Given the description of an element on the screen output the (x, y) to click on. 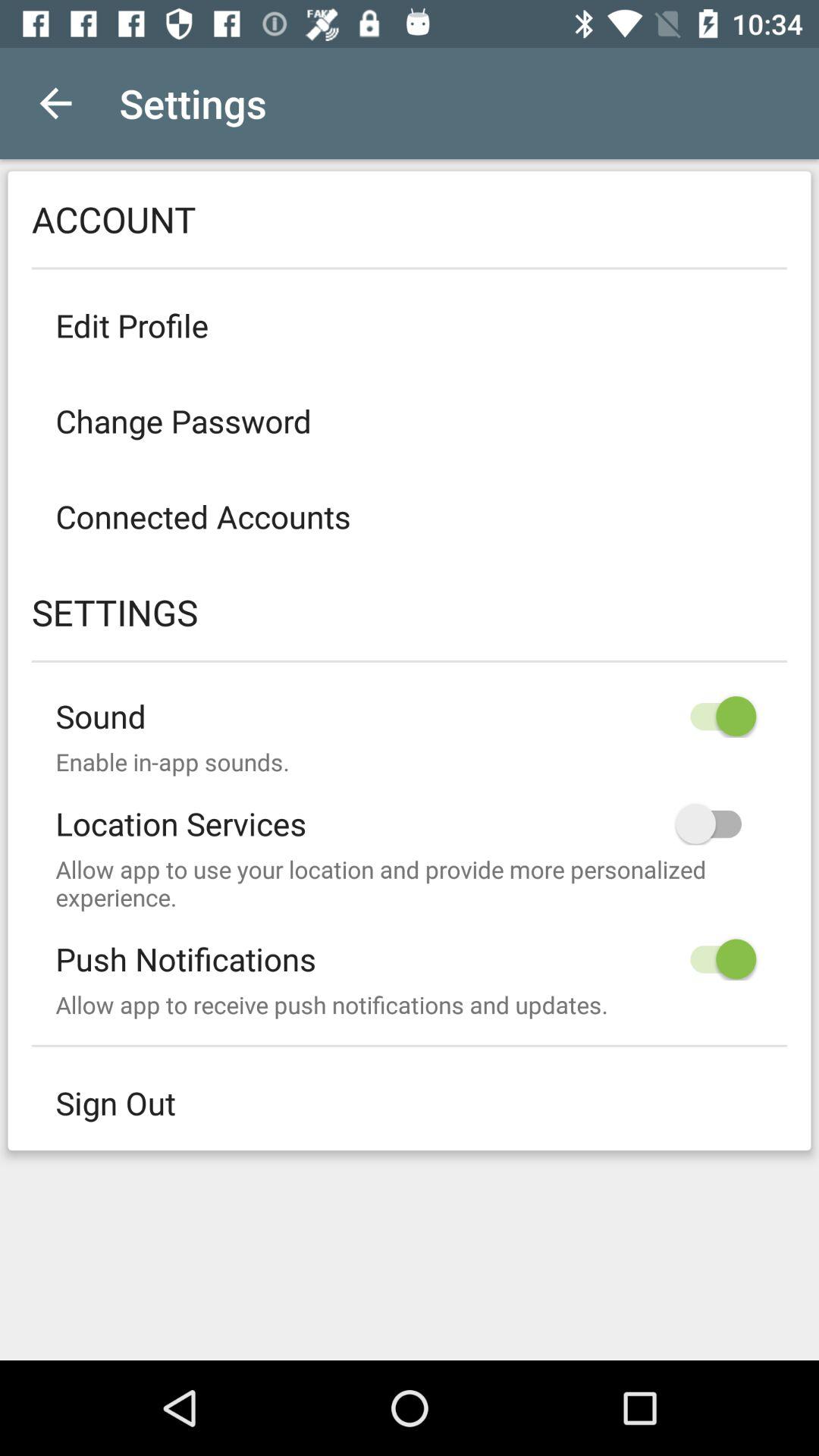
choose location services item (409, 811)
